Given the description of an element on the screen output the (x, y) to click on. 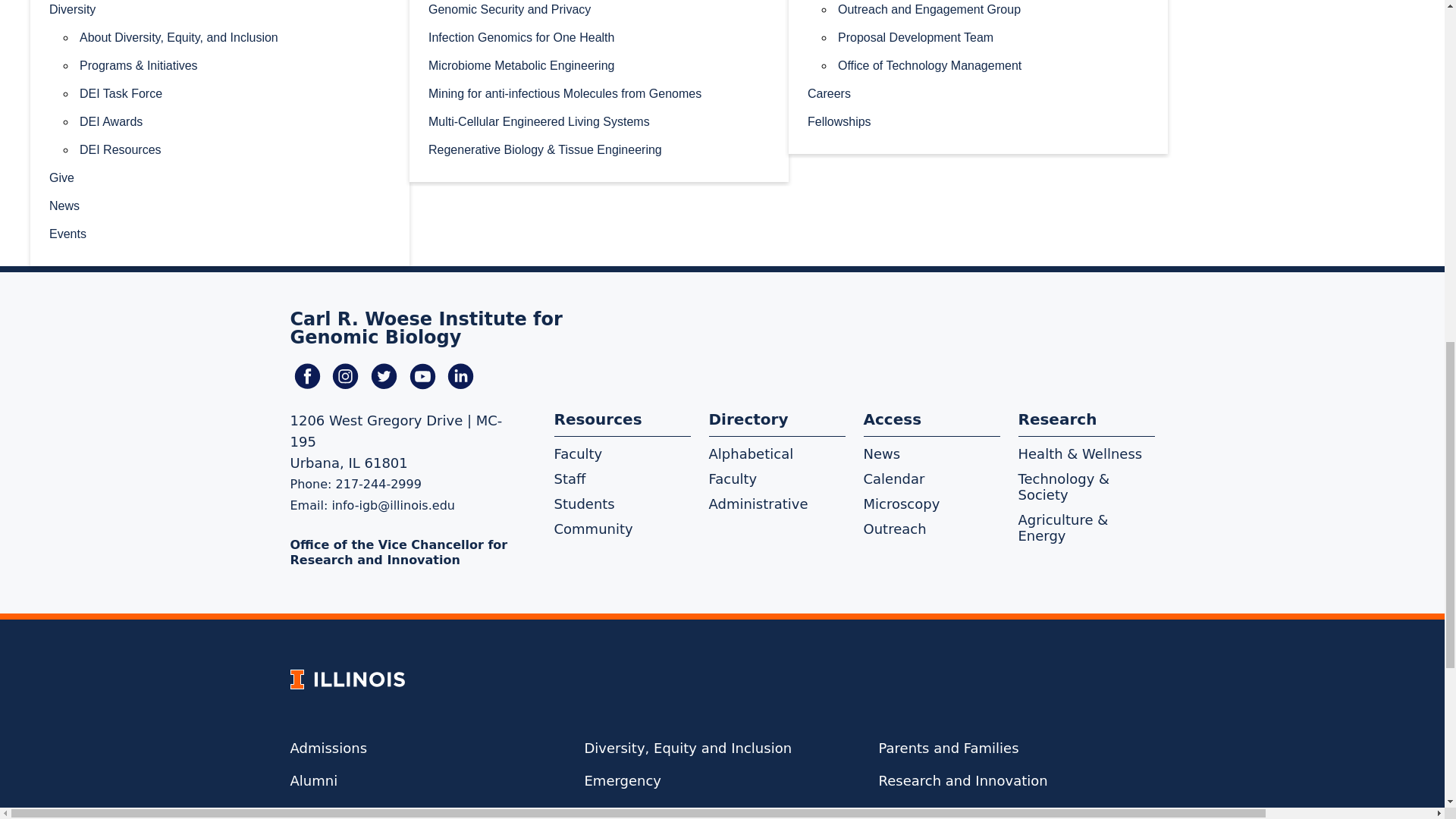
Infection Genomics for One Health (599, 36)
DEI Awards (234, 121)
Events (219, 233)
News (219, 204)
Diversity (219, 11)
DEI Resources (234, 148)
Diversity (219, 11)
About Diversity, Equity, and Inclusion (234, 36)
About Diversity, Equity, and Inclusion (234, 36)
Give (219, 176)
Give (219, 176)
Mining for anti-infectious Molecules from Genomes (599, 92)
News (219, 204)
Multi-Cellular Engineered Living Systems (599, 121)
DEI Awards (234, 121)
